Given the description of an element on the screen output the (x, y) to click on. 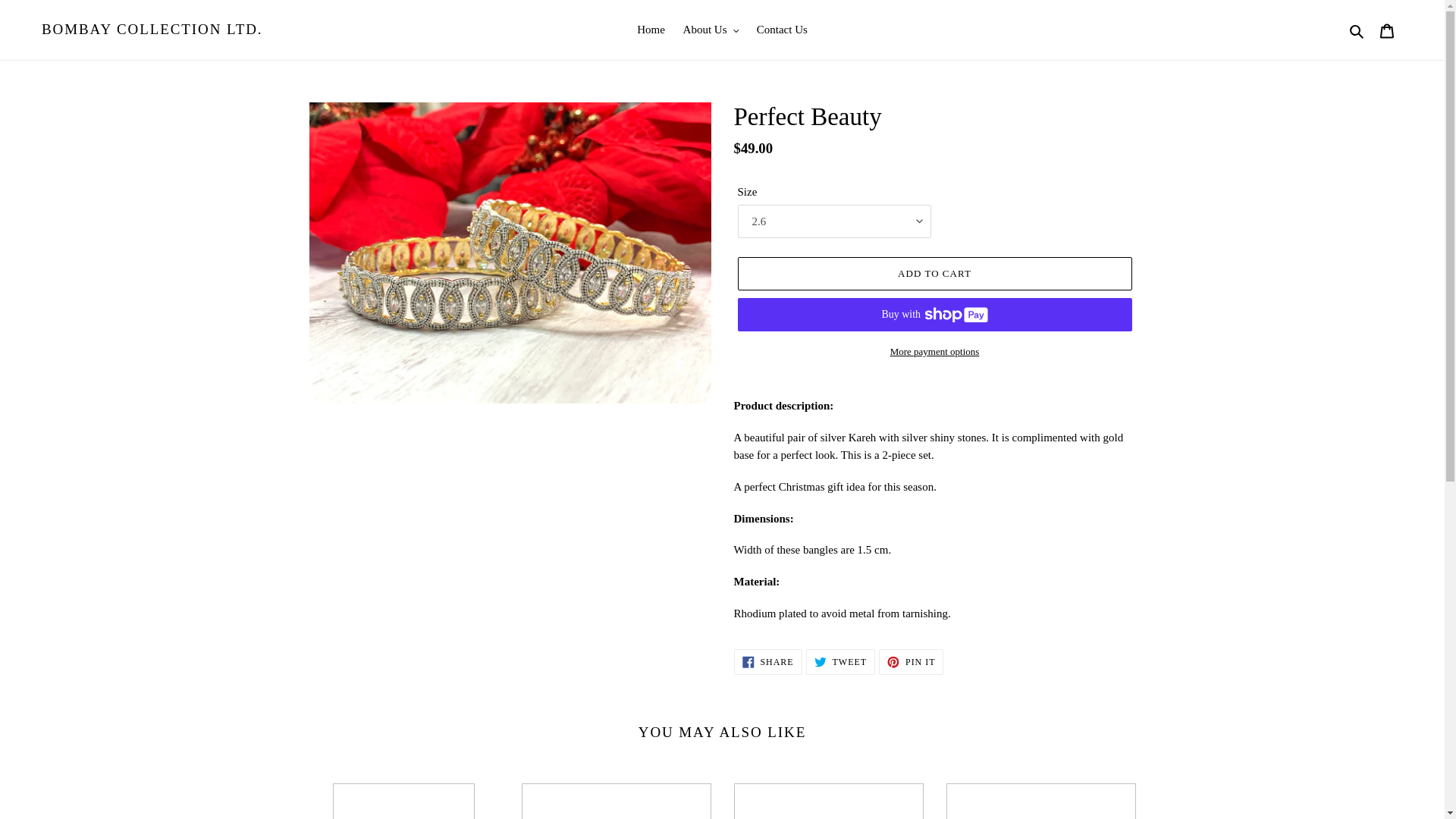
Happiness Bundle (403, 800)
ADD TO CART (933, 273)
Christmas Cookies (840, 661)
About Us (1040, 800)
Bundle Of Rings (767, 661)
Search (710, 29)
Home (911, 661)
Contact Us (616, 800)
Cart (1357, 29)
BOMBAY COLLECTION LTD. (650, 29)
More payment options (782, 29)
